Given the description of an element on the screen output the (x, y) to click on. 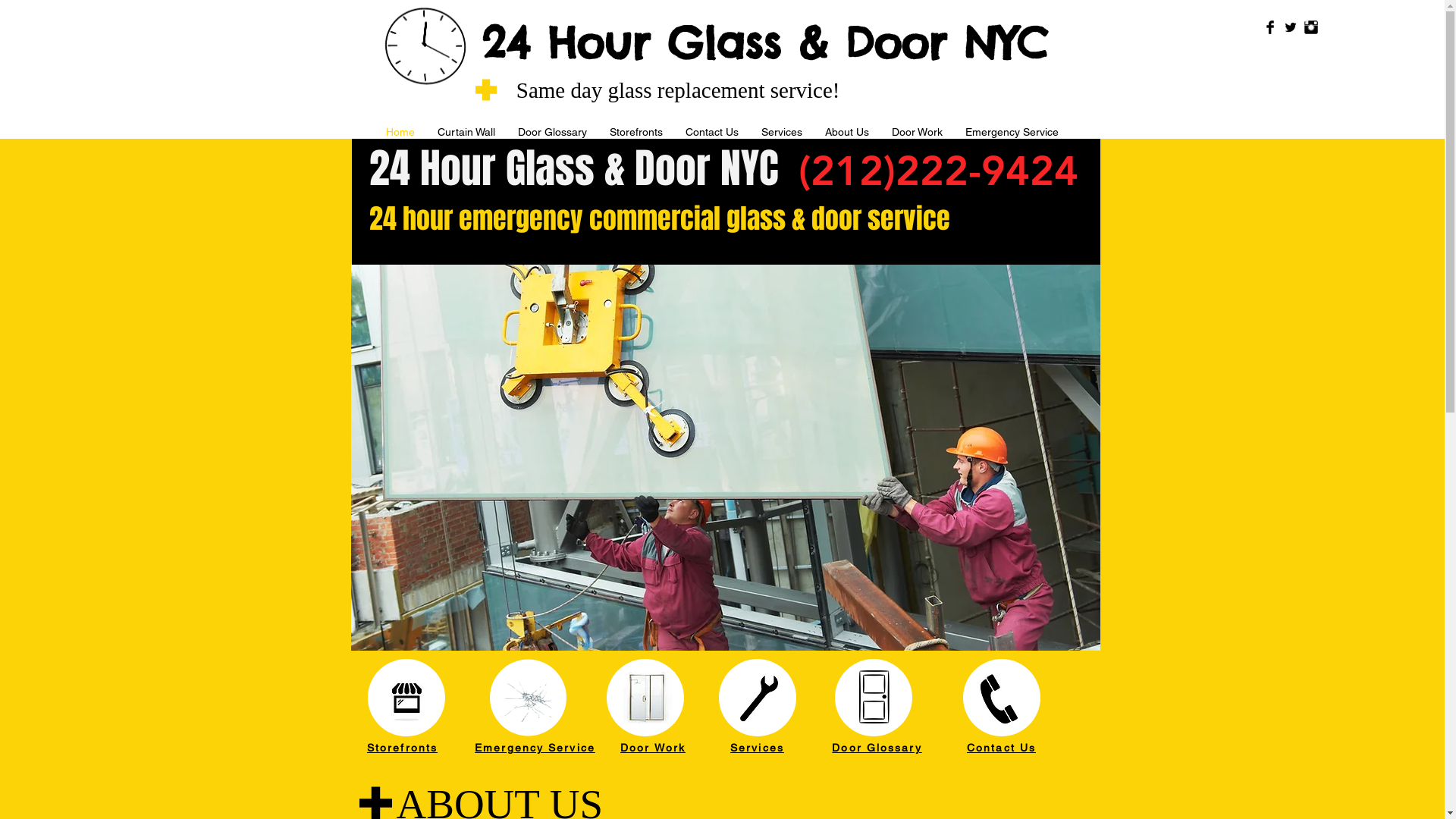
Door Work Element type: text (652, 747)
storefront.jpg Element type: hover (405, 697)
LKBP6t6.png Element type: hover (528, 697)
24 Hour Glass & Door NYC Element type: text (763, 42)
Storefronts Element type: text (402, 747)
About Us Element type: text (846, 128)
Curtain Wall Element type: text (466, 128)
Home Element type: text (400, 128)
Contact Us Element type: text (711, 128)
download.png Element type: hover (757, 697)
phone-clip-art-jTxgjjXTE.png Element type: hover (1000, 700)
Door Glossary Element type: text (876, 747)
Door Glossary Element type: text (552, 128)
Services Element type: text (757, 747)
Emergency Service Element type: text (534, 747)
images.png Element type: hover (873, 696)
Services Element type: text (781, 128)
Emergency Service Element type: text (1011, 128)
Door Work Element type: text (916, 128)
30513e3efeaf1dffefc22bab7df4dc46.jpg Element type: hover (648, 697)
Storefronts Element type: text (636, 128)
Contact Us Element type: text (1000, 747)
